Given the description of an element on the screen output the (x, y) to click on. 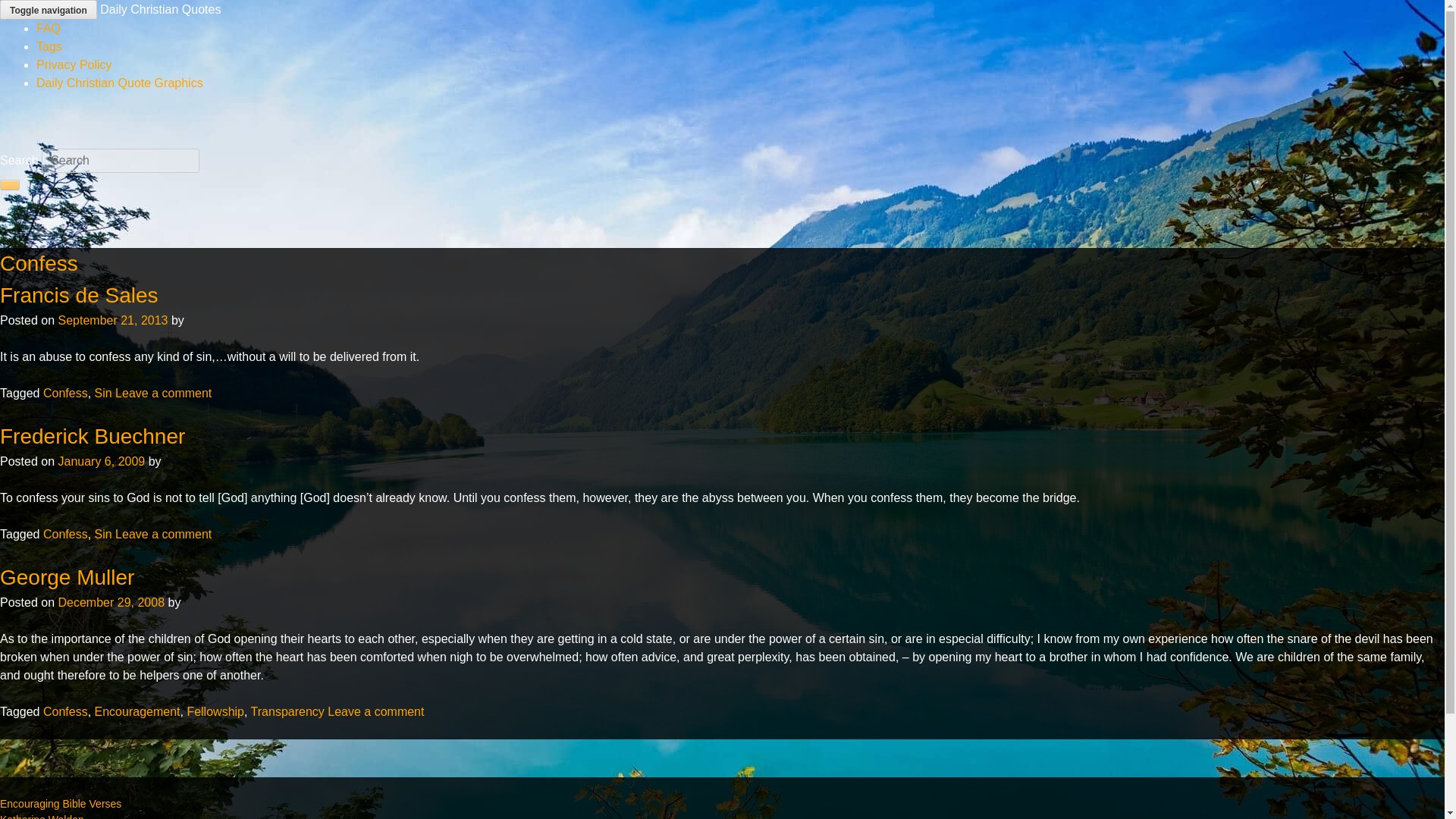
Confess (65, 392)
Tags (49, 46)
Frederick Buechner (92, 436)
Leave a comment (163, 392)
FAQ (48, 28)
Leave a comment (375, 711)
Toggle navigation (48, 9)
Privacy Policy (74, 64)
Fellowship (215, 711)
George Muller (66, 576)
September 21, 2013 (112, 319)
Daily Christian Quote Graphics (119, 82)
Sin (103, 533)
Confess (65, 711)
Transparency (287, 711)
